Given the description of an element on the screen output the (x, y) to click on. 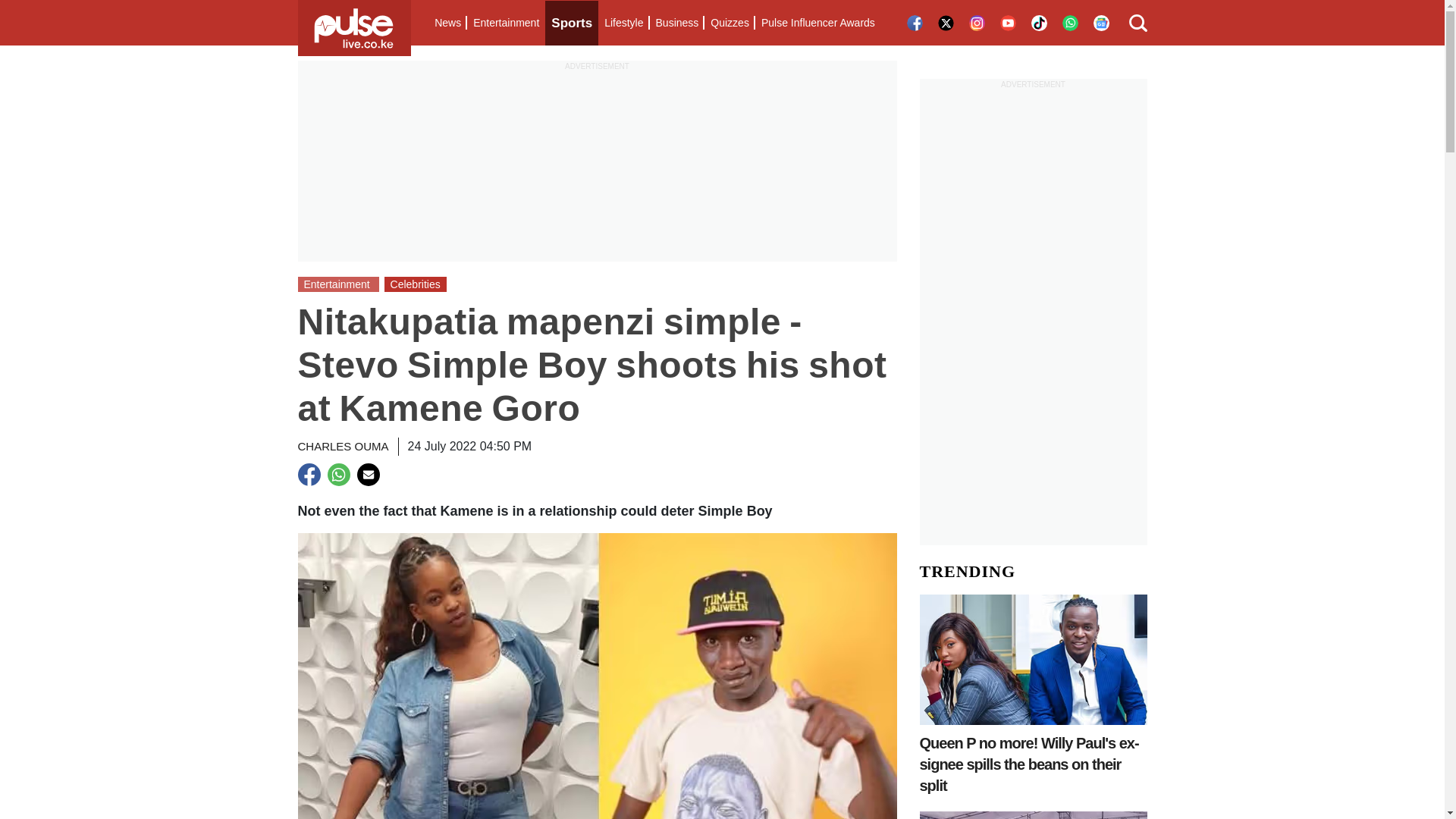
Business (676, 22)
Entertainment (505, 22)
Quizzes (729, 22)
Pulse Influencer Awards (817, 22)
Lifestyle (623, 22)
Sports (571, 22)
